Given the description of an element on the screen output the (x, y) to click on. 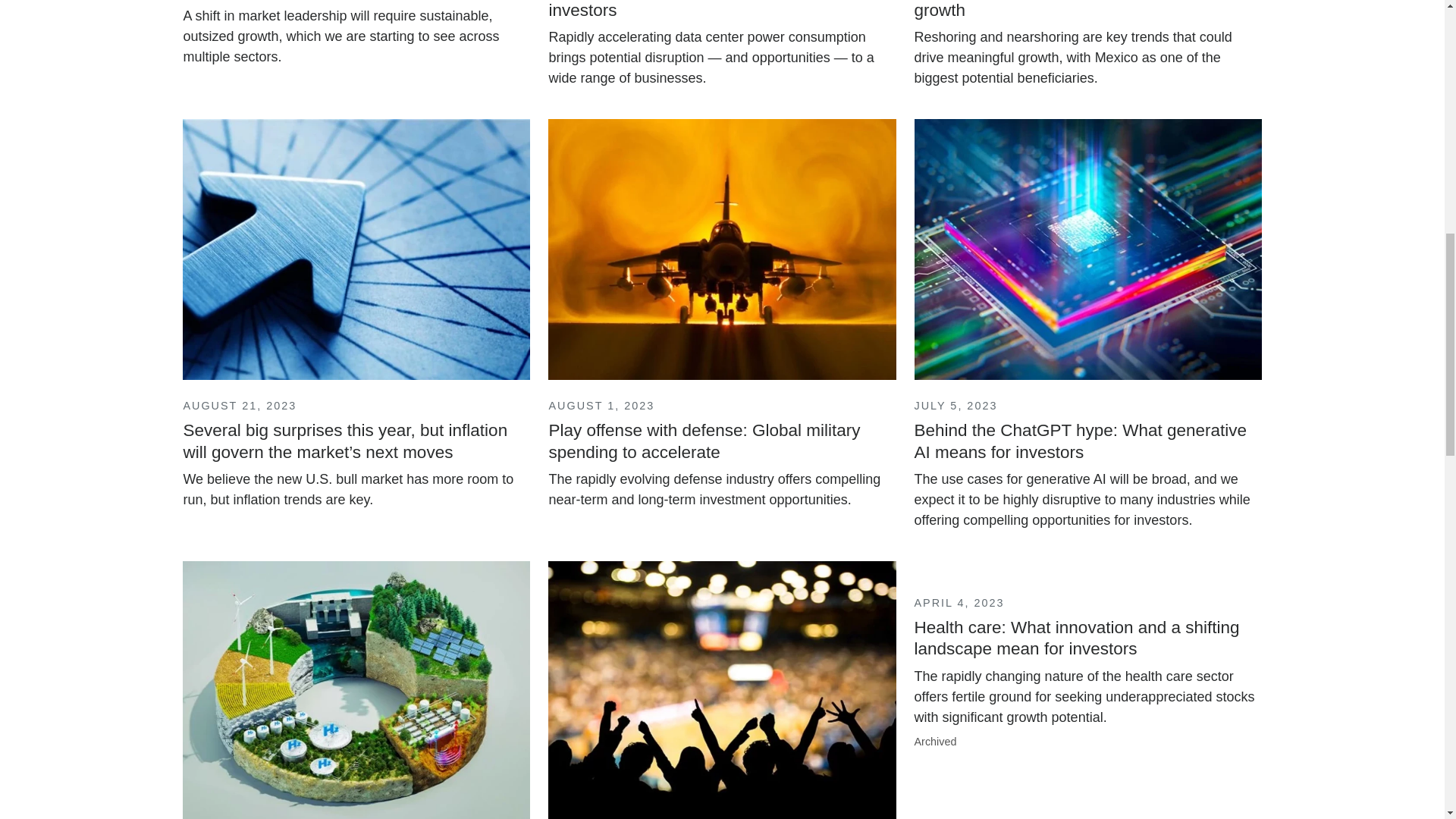
Why power-hungry AI is compelling for investors (721, 47)
Made in Mexico: Nearshoring is accelerating growth (1088, 47)
Growth can be found outside mega-cap tech (356, 36)
